Given the description of an element on the screen output the (x, y) to click on. 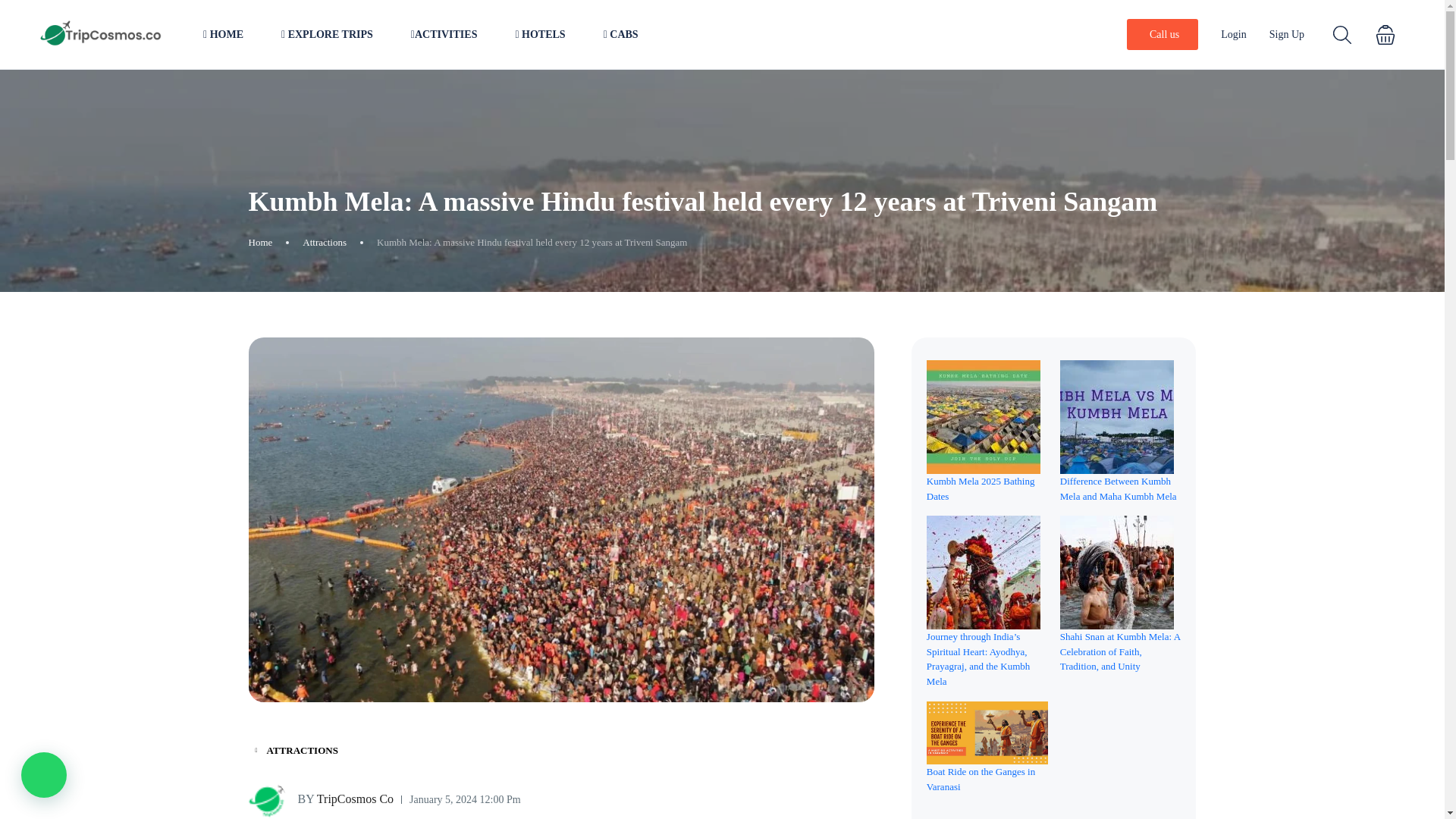
Login (1233, 34)
CABS (621, 34)
Call us (1162, 33)
Attractions (324, 242)
HOTELS (539, 34)
HOME (223, 34)
BY TripCosmos Co (321, 800)
ACTIVITIES (443, 34)
EXPLORE TRIPS (326, 34)
Home (260, 242)
Sign Up (1286, 34)
ATTRACTIONS (297, 750)
